Given the description of an element on the screen output the (x, y) to click on. 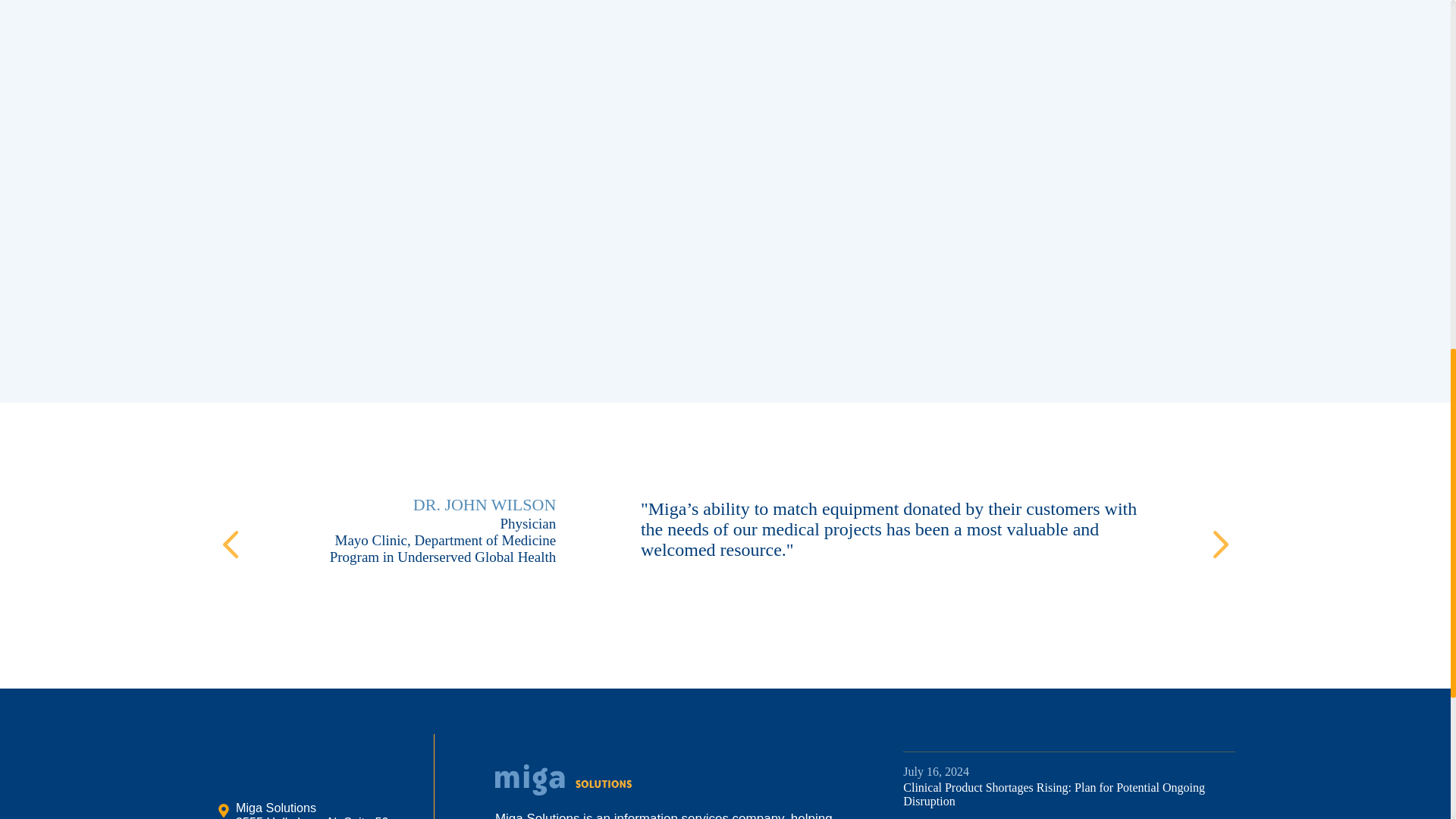
logo-foot (563, 779)
